Given the description of an element on the screen output the (x, y) to click on. 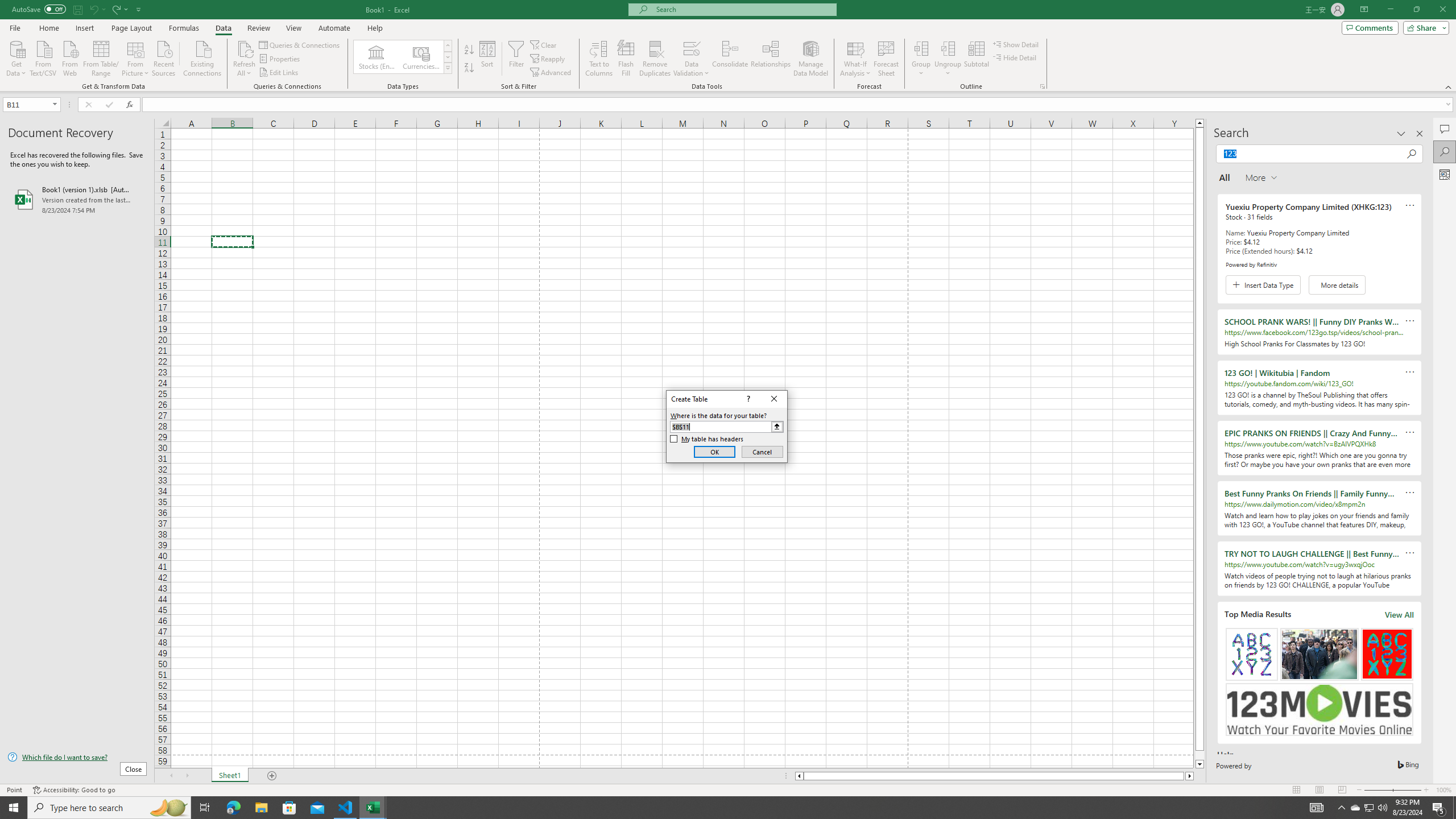
Microsoft search (742, 9)
Search (1444, 151)
Ungroup... (947, 48)
Row Down (448, 56)
Search highlights icon opens search home window (167, 807)
Action Center, 5 new notifications (1439, 807)
Consolidate... (729, 58)
Data Types (448, 67)
Recent Sources (163, 57)
Group... (921, 58)
